Given the description of an element on the screen output the (x, y) to click on. 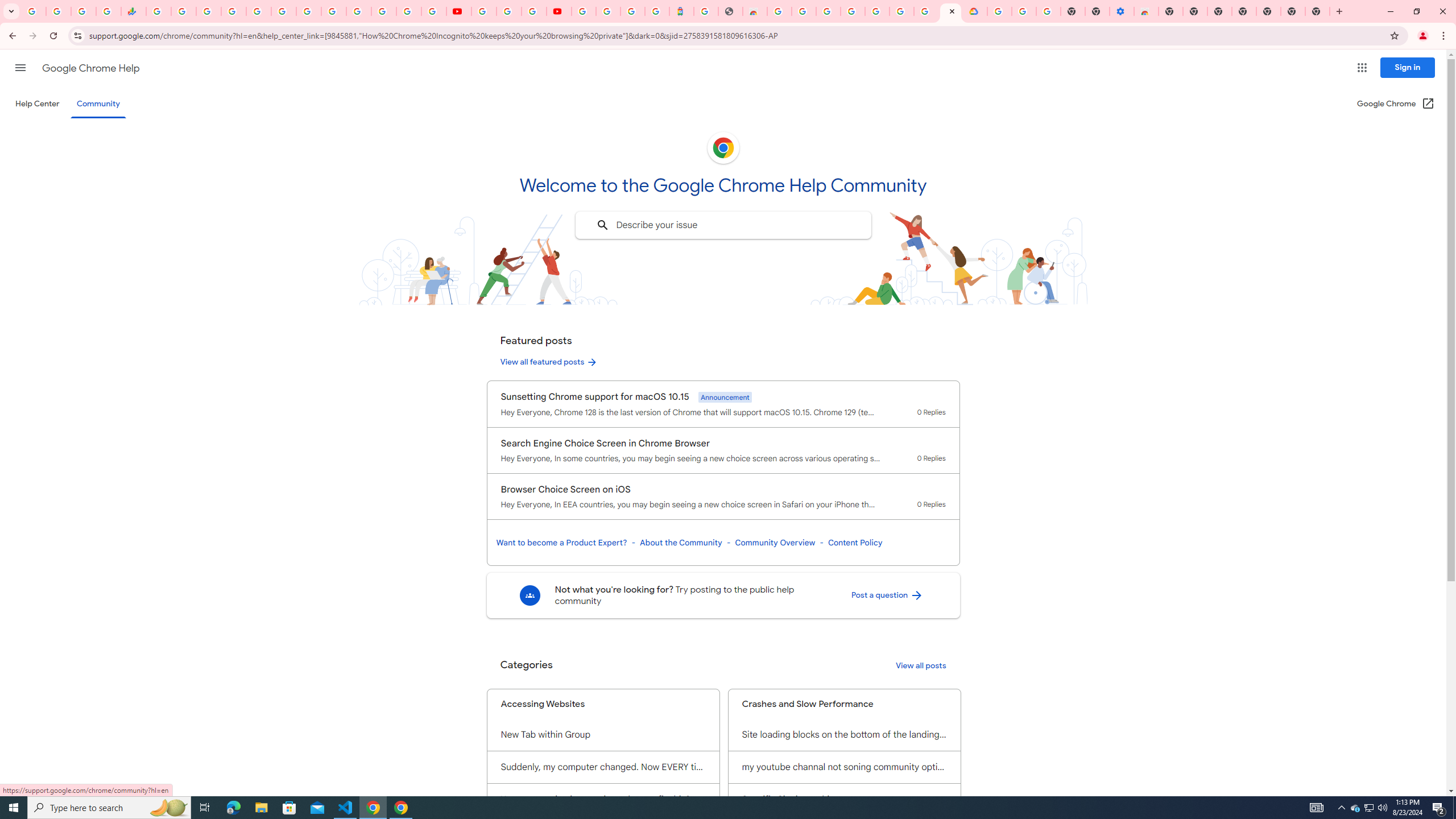
Google Workspace Admin Community (33, 11)
Google Chrome Community (950, 11)
Sign in - Google Accounts (608, 11)
Settings - Accessibility (1121, 11)
Google Account Help (876, 11)
Want to become a Product Expert? (561, 542)
